Given the description of an element on the screen output the (x, y) to click on. 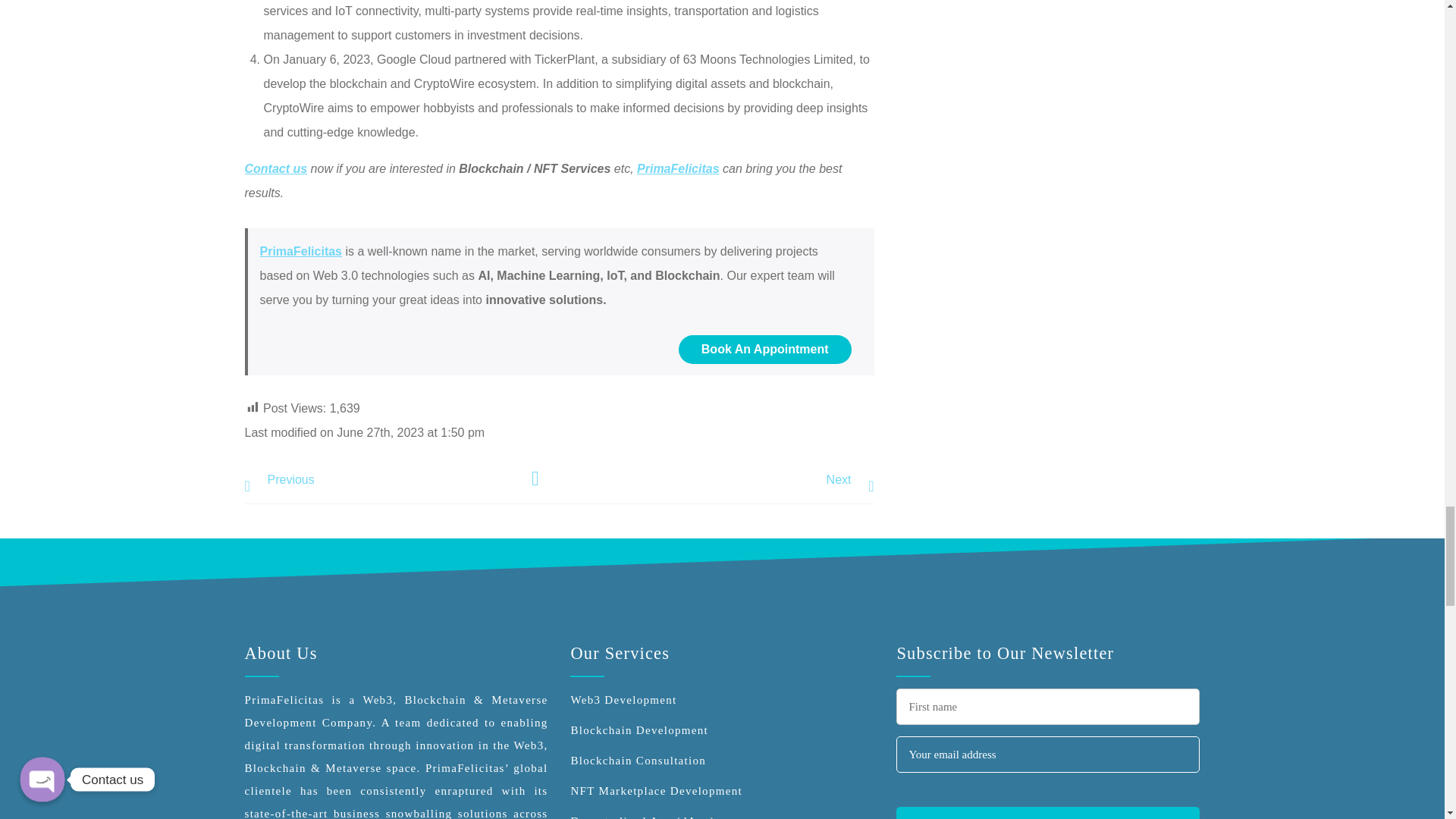
Sign up (1047, 812)
